Given the description of an element on the screen output the (x, y) to click on. 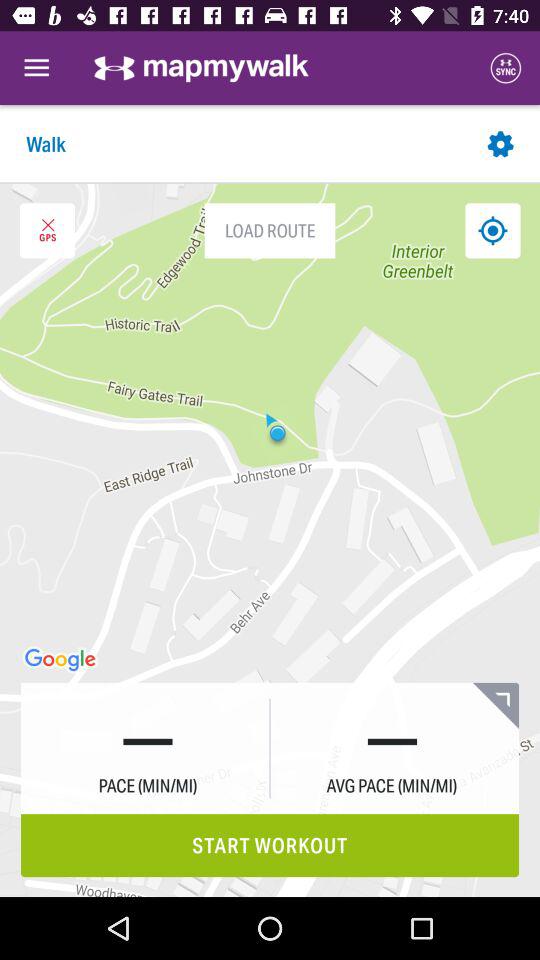
jump until the start workout (270, 845)
